Given the description of an element on the screen output the (x, y) to click on. 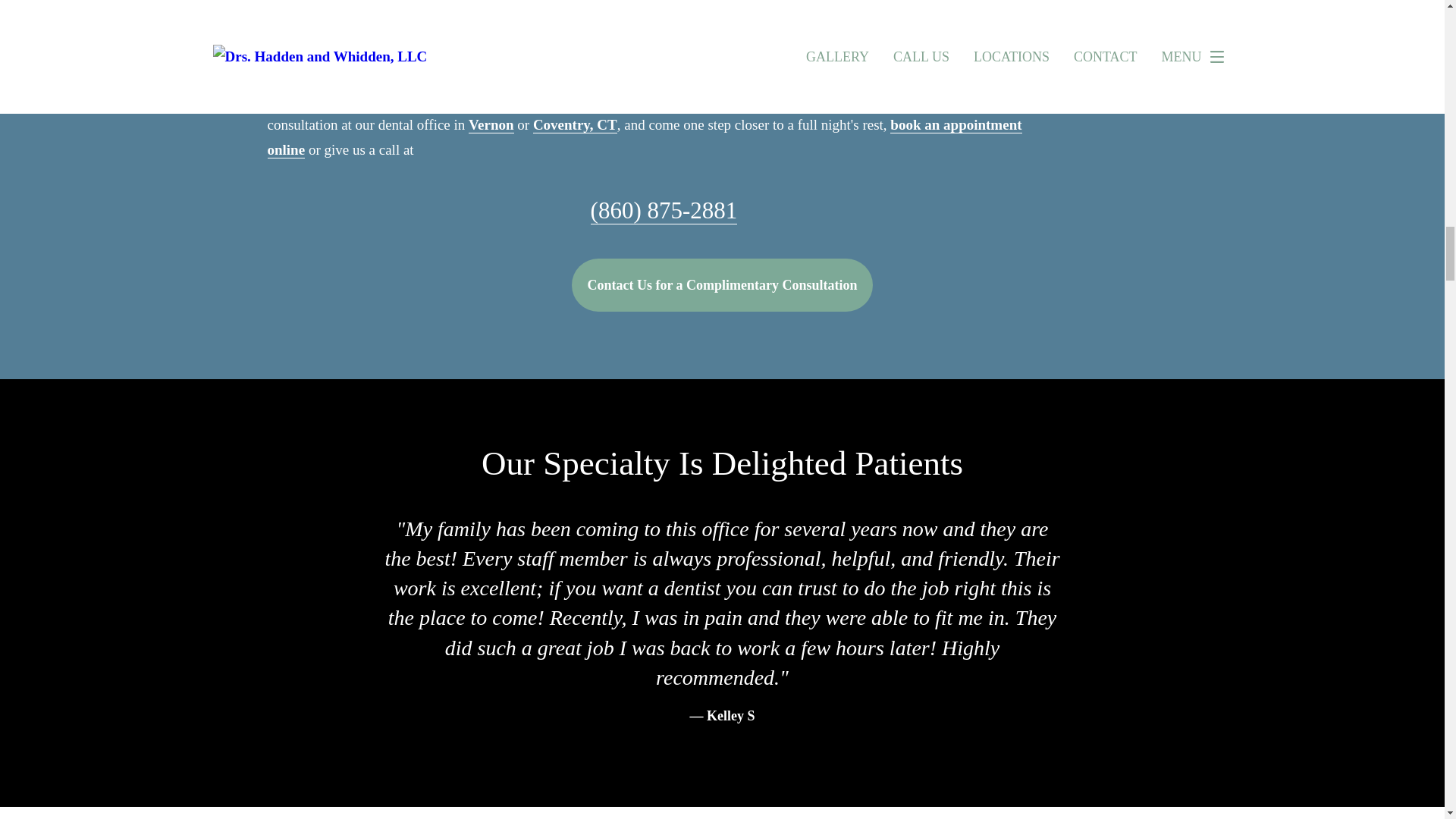
Coventry, CT (574, 125)
book an appointment online (644, 137)
Dr. Eric Whidden (552, 15)
Contact Us for a Complimentary Consultation (722, 285)
Vernon (490, 125)
